Given the description of an element on the screen output the (x, y) to click on. 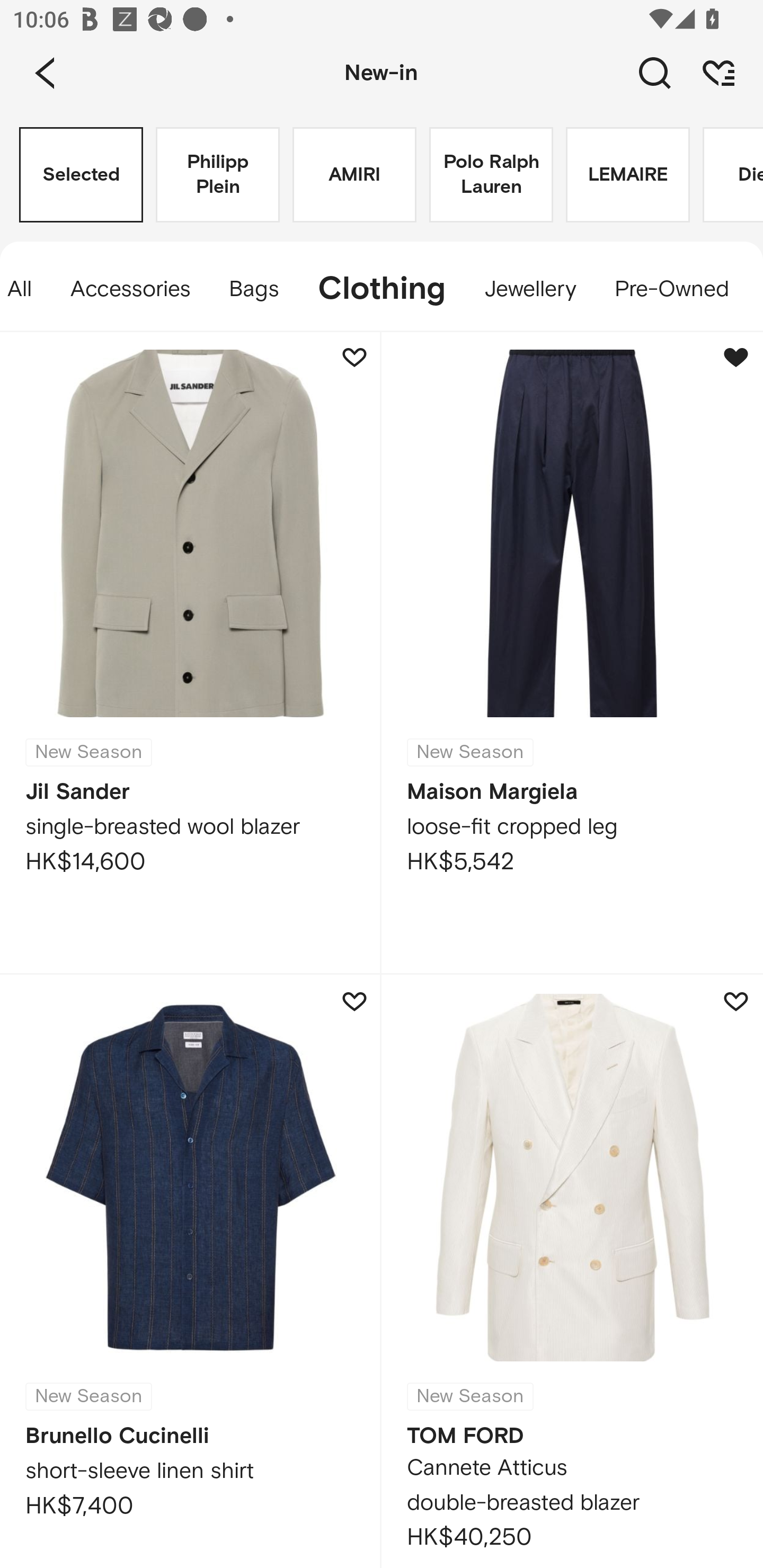
Selected (81, 174)
Philipp Plein (217, 174)
AMIRI (354, 174)
Polo Ralph Lauren (490, 174)
LEMAIRE (627, 174)
All (25, 289)
Accessories (130, 289)
Bags (253, 289)
Clothing (381, 289)
Jewellery (529, 289)
Pre-Owned (671, 289)
